Given the description of an element on the screen output the (x, y) to click on. 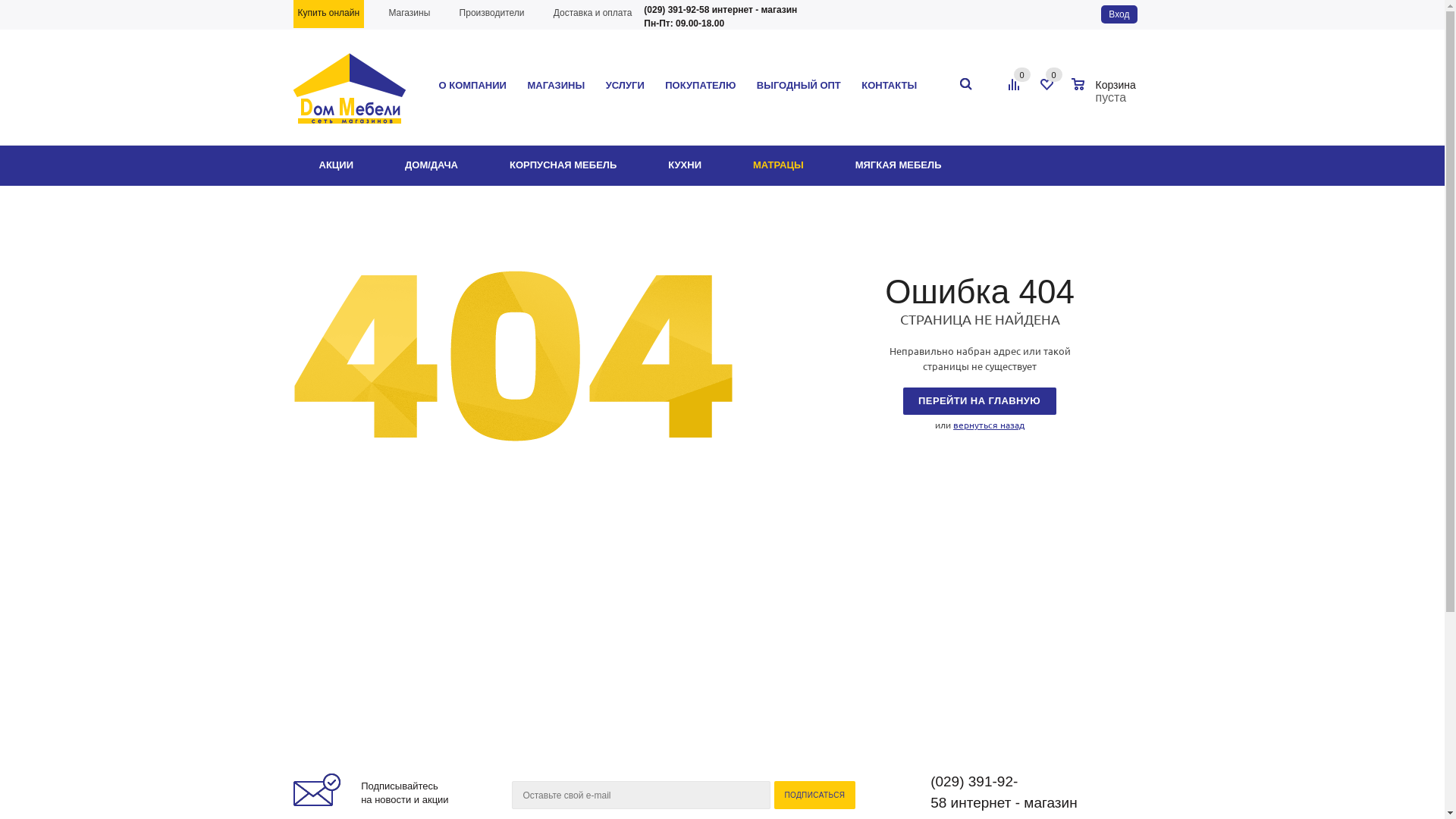
:-( Element type: hover (512, 356)
0 Element type: text (1021, 73)
